Given the description of an element on the screen output the (x, y) to click on. 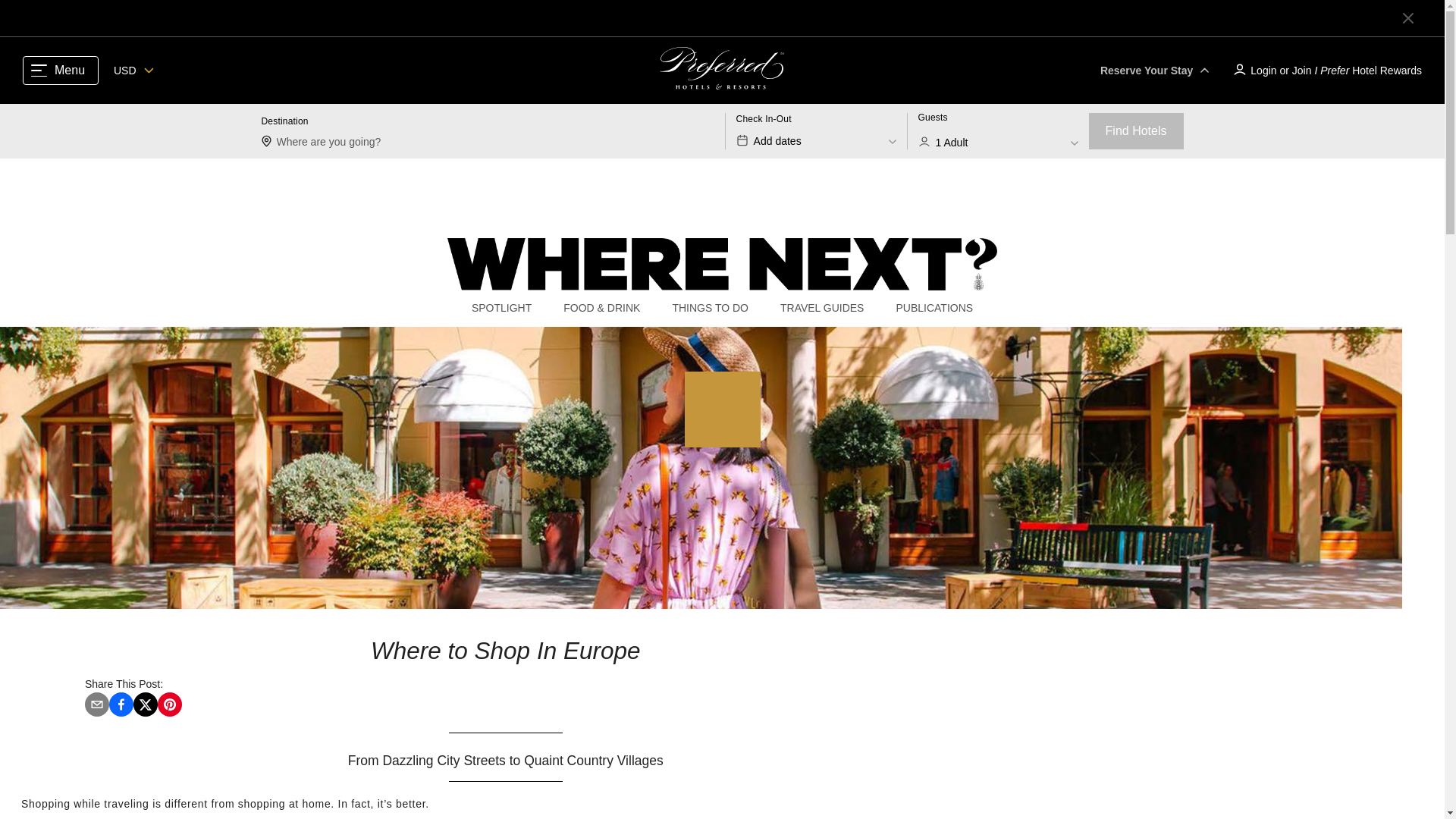
Find Hotels (1136, 131)
TRAVEL GUIDES (821, 307)
THINGS TO DO (710, 307)
Menu (61, 70)
Login or Join I Prefer Hotel Rewards (1325, 70)
PUBLICATIONS (816, 131)
Reserve Your Stay (933, 307)
SPOTLIGHT (998, 131)
